Given the description of an element on the screen output the (x, y) to click on. 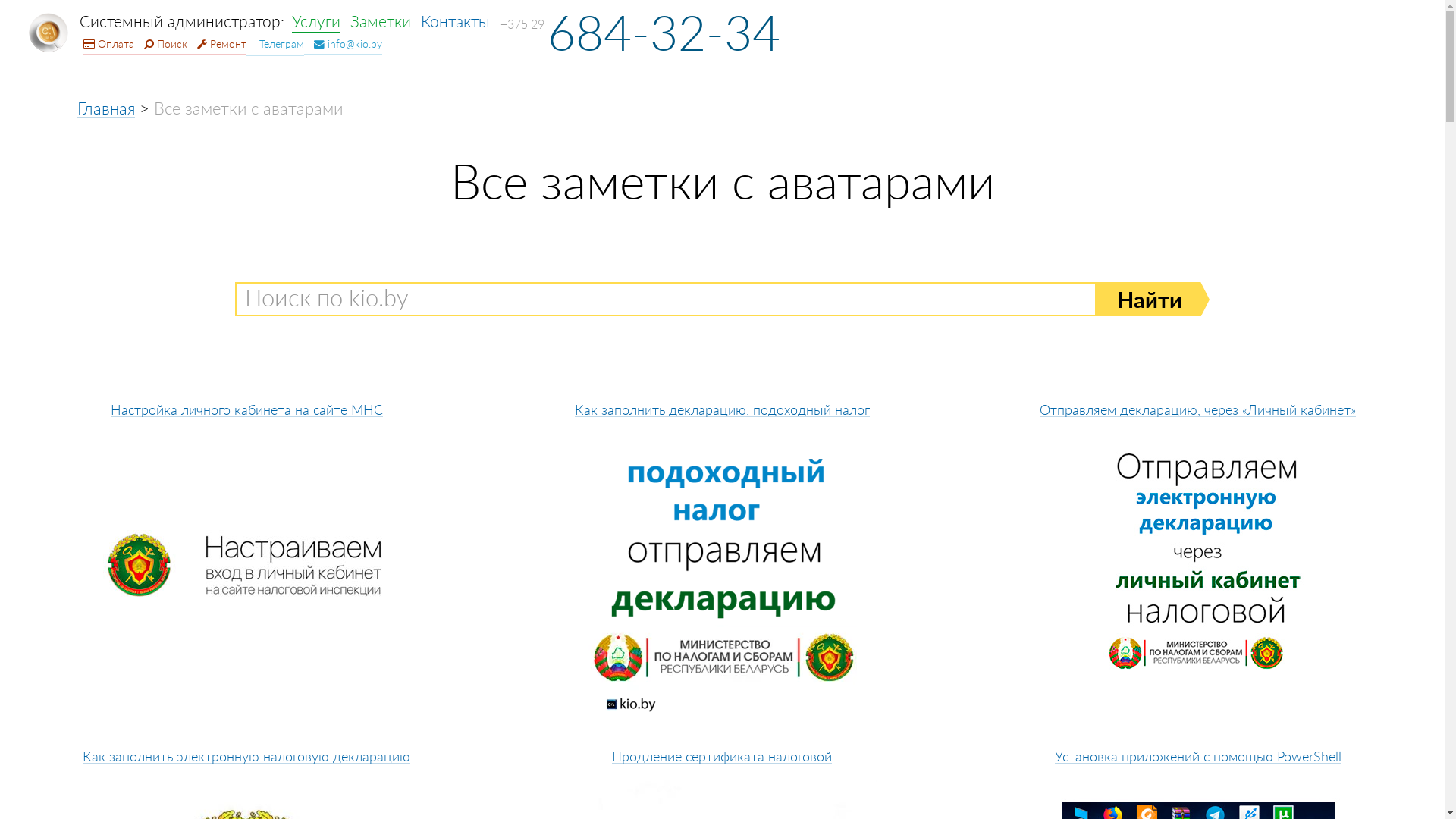
 info@kio.by Element type: text (343, 44)
